Given the description of an element on the screen output the (x, y) to click on. 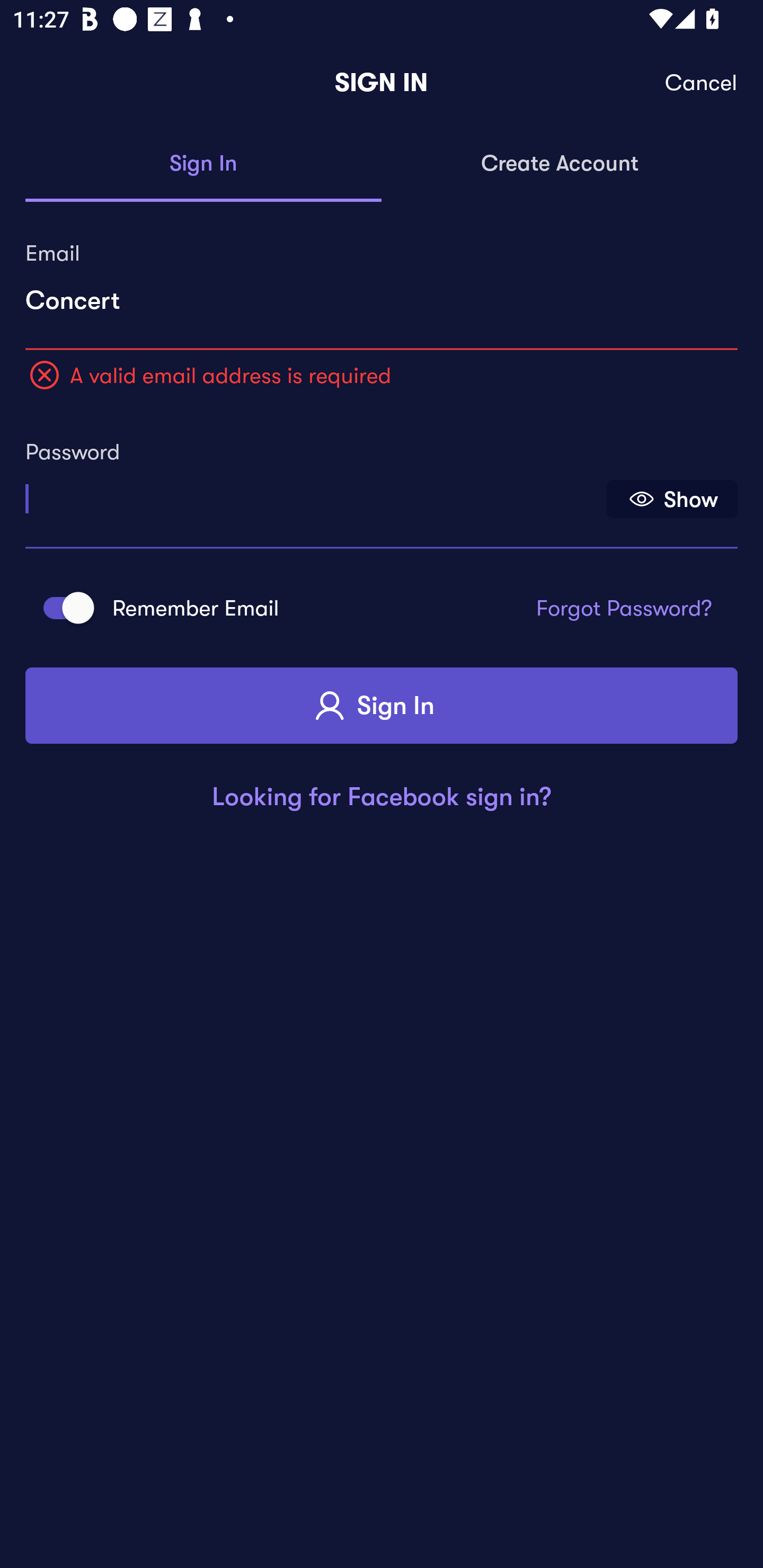
Cancel (701, 82)
Sign In (203, 164)
Create Account (559, 164)
Password (314, 493)
Show Password Show (671, 498)
Remember Email (62, 607)
Sign In (381, 705)
